Given the description of an element on the screen output the (x, y) to click on. 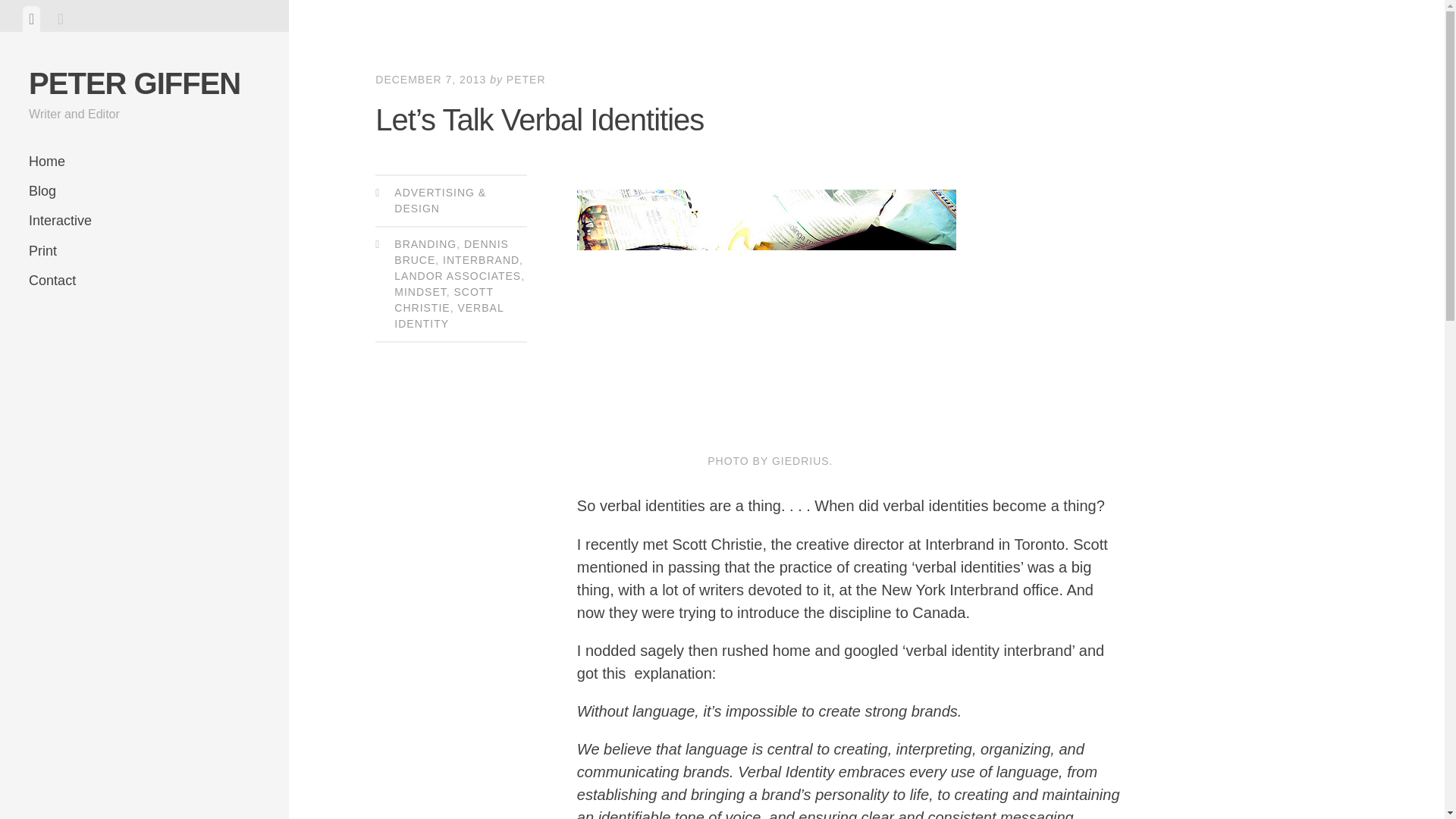
INTERBRAND (480, 259)
Print (144, 251)
Blog (144, 191)
BRANDING (425, 244)
Interactive (144, 220)
PETER (526, 79)
DECEMBER 7, 2013 (430, 79)
PETER GIFFEN (134, 82)
Contact (144, 280)
DENNIS BRUCE (451, 252)
